Given the description of an element on the screen output the (x, y) to click on. 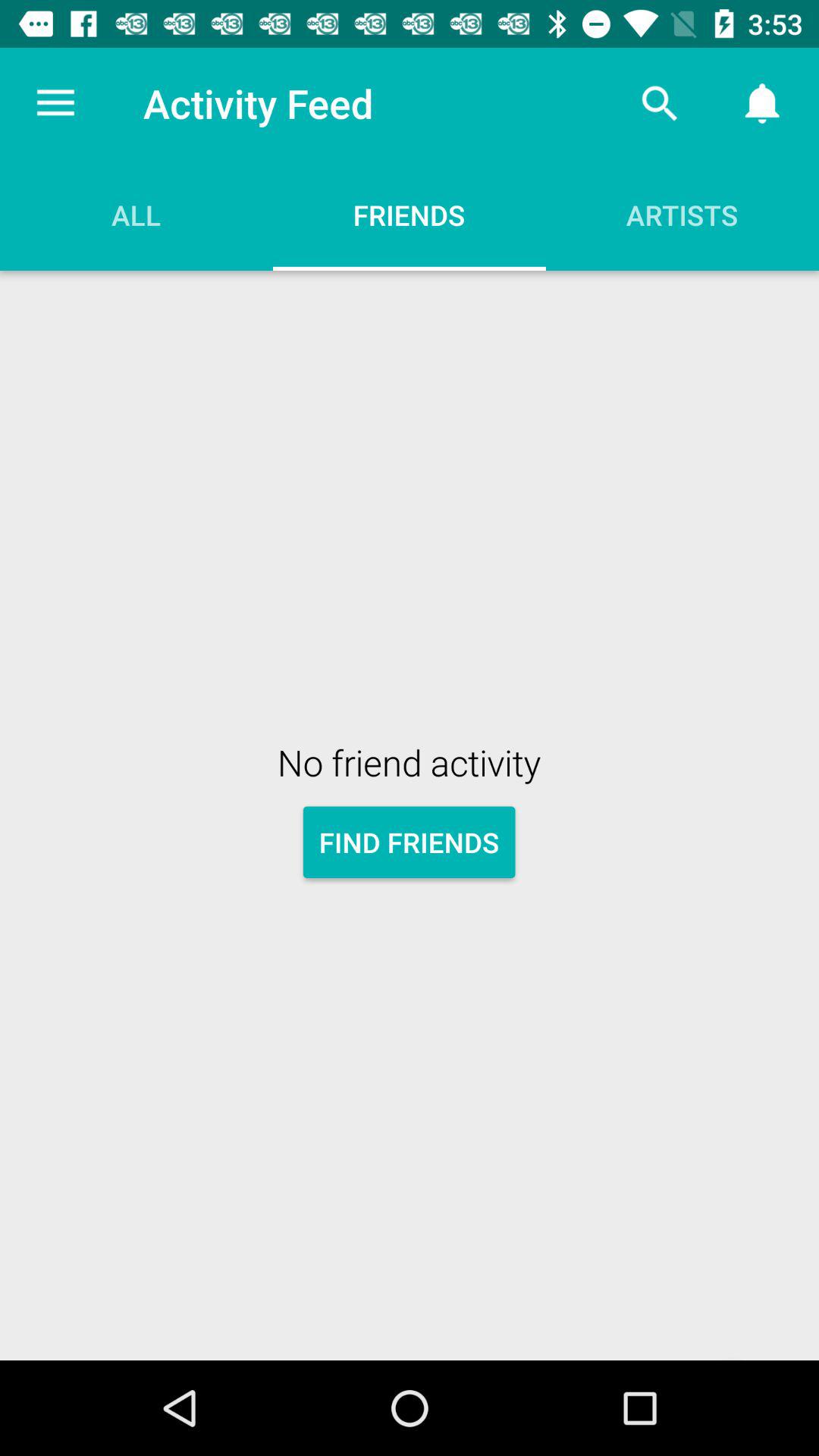
jump until the find friends icon (409, 842)
